Given the description of an element on the screen output the (x, y) to click on. 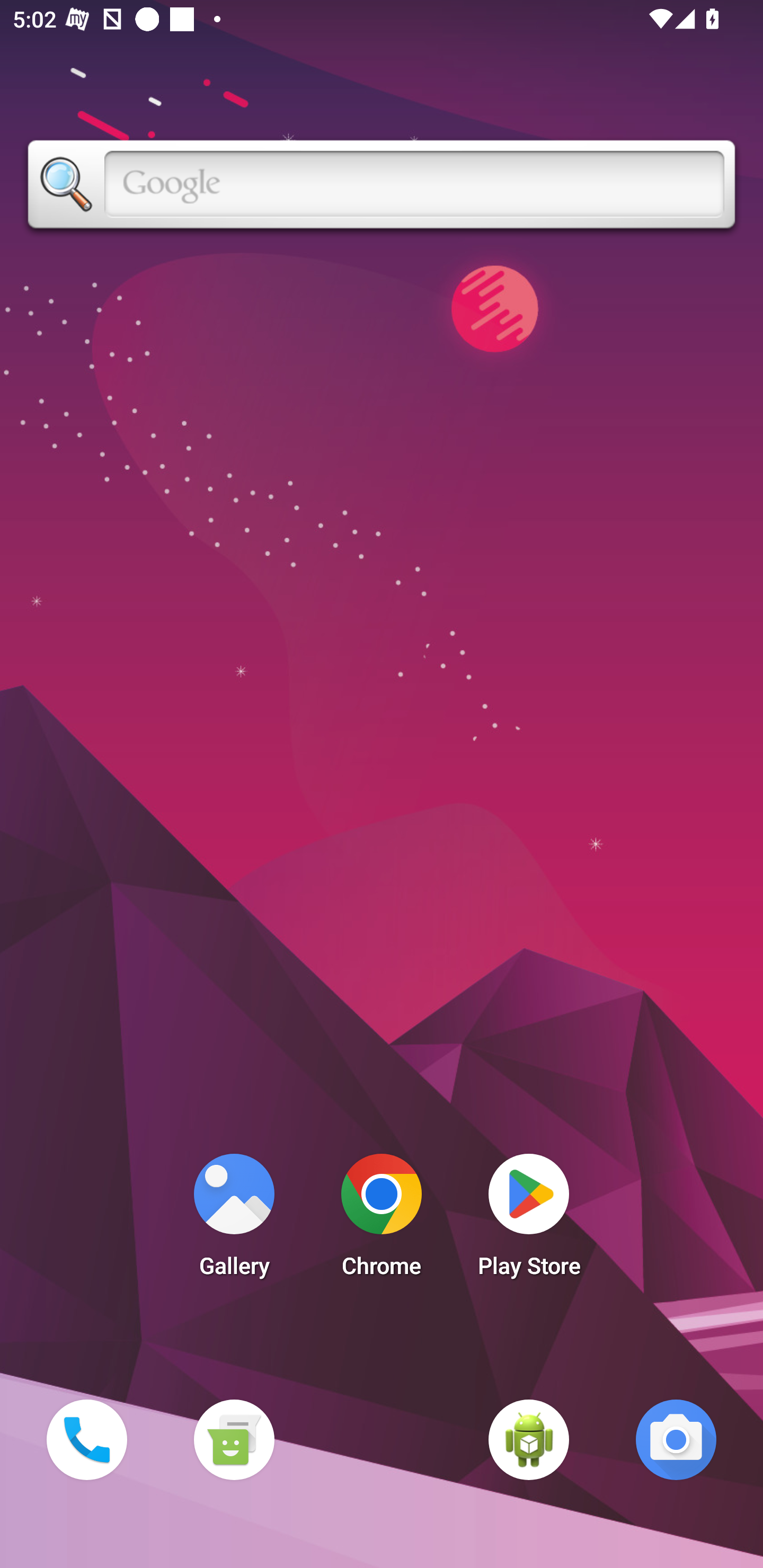
Gallery (233, 1220)
Chrome (381, 1220)
Play Store (528, 1220)
Phone (86, 1439)
Messaging (233, 1439)
WebView Browser Tester (528, 1439)
Camera (676, 1439)
